Given the description of an element on the screen output the (x, y) to click on. 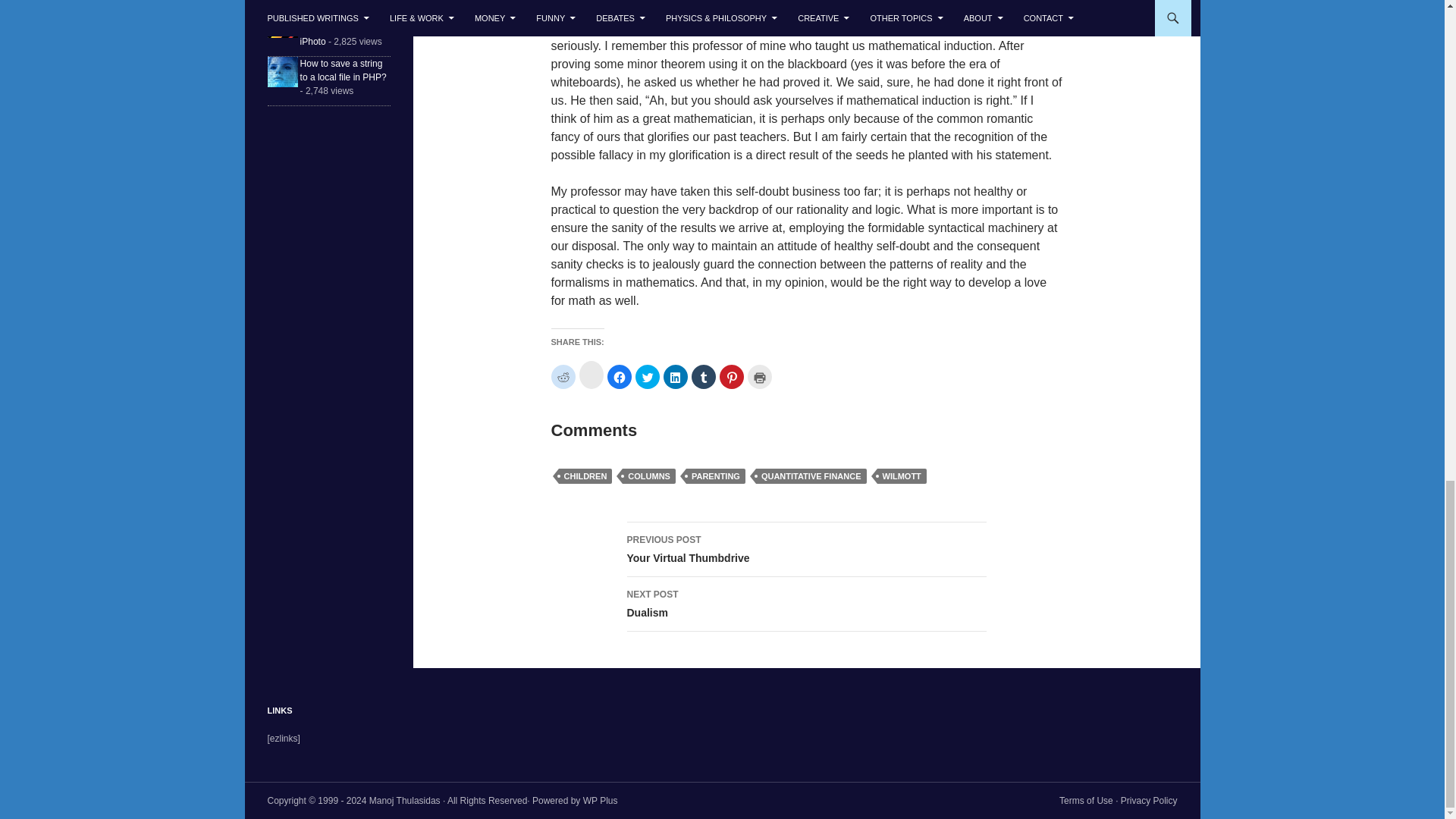
Click to print (759, 376)
Click to share on Facebook (618, 376)
Click to share on Twitter (646, 376)
Click to share on Reddit (562, 376)
Click to share on Pinterest (730, 376)
Click to share on Tumblr (703, 376)
Click to share on LinkedIn (674, 376)
